Given the description of an element on the screen output the (x, y) to click on. 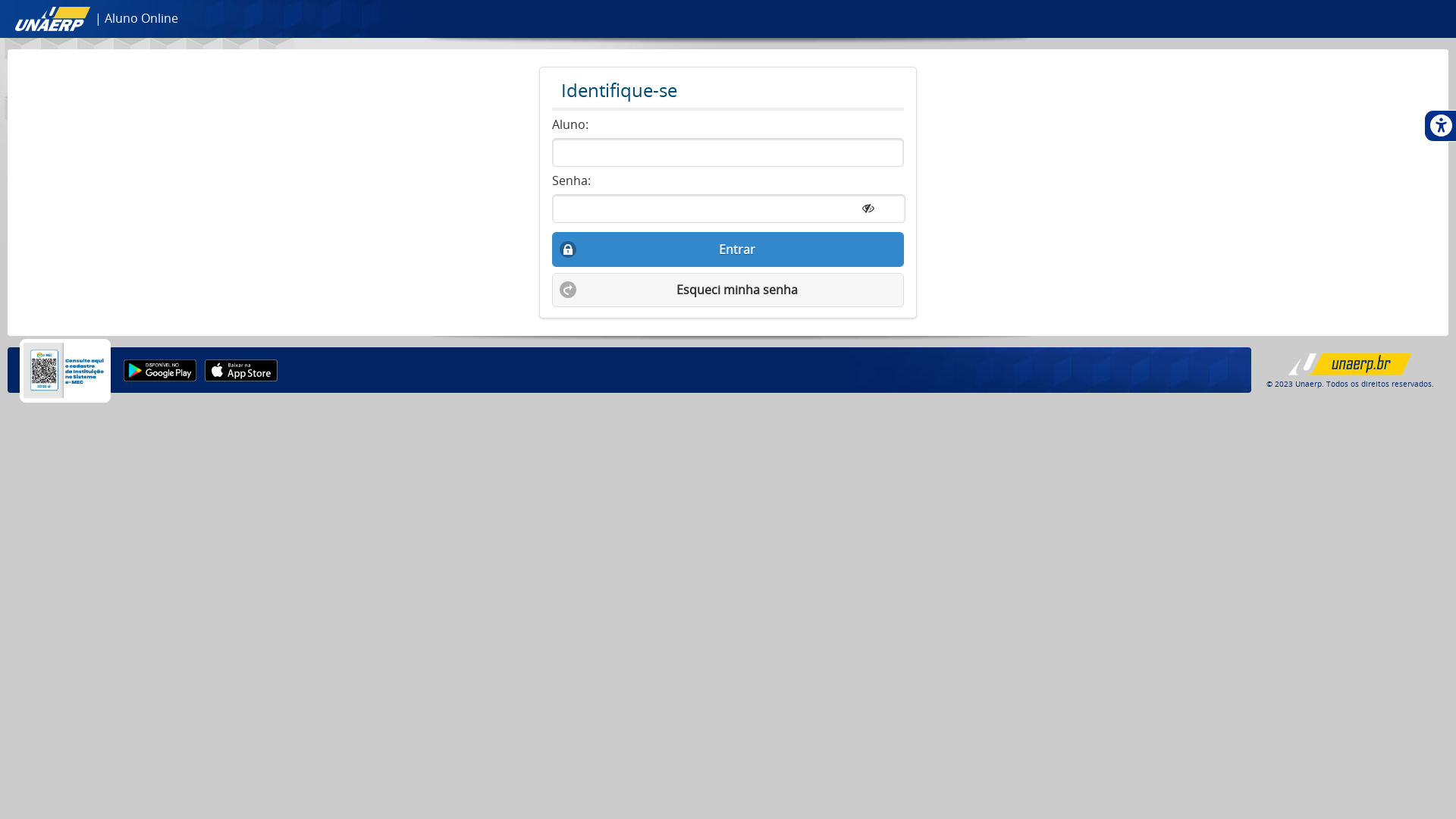
Entrar Element type: text (727, 248)
| Aluno Online Element type: text (96, 18)
e-MEC Element type: hover (64, 369)
Esqueci minha senha Element type: text (727, 290)
